Given the description of an element on the screen output the (x, y) to click on. 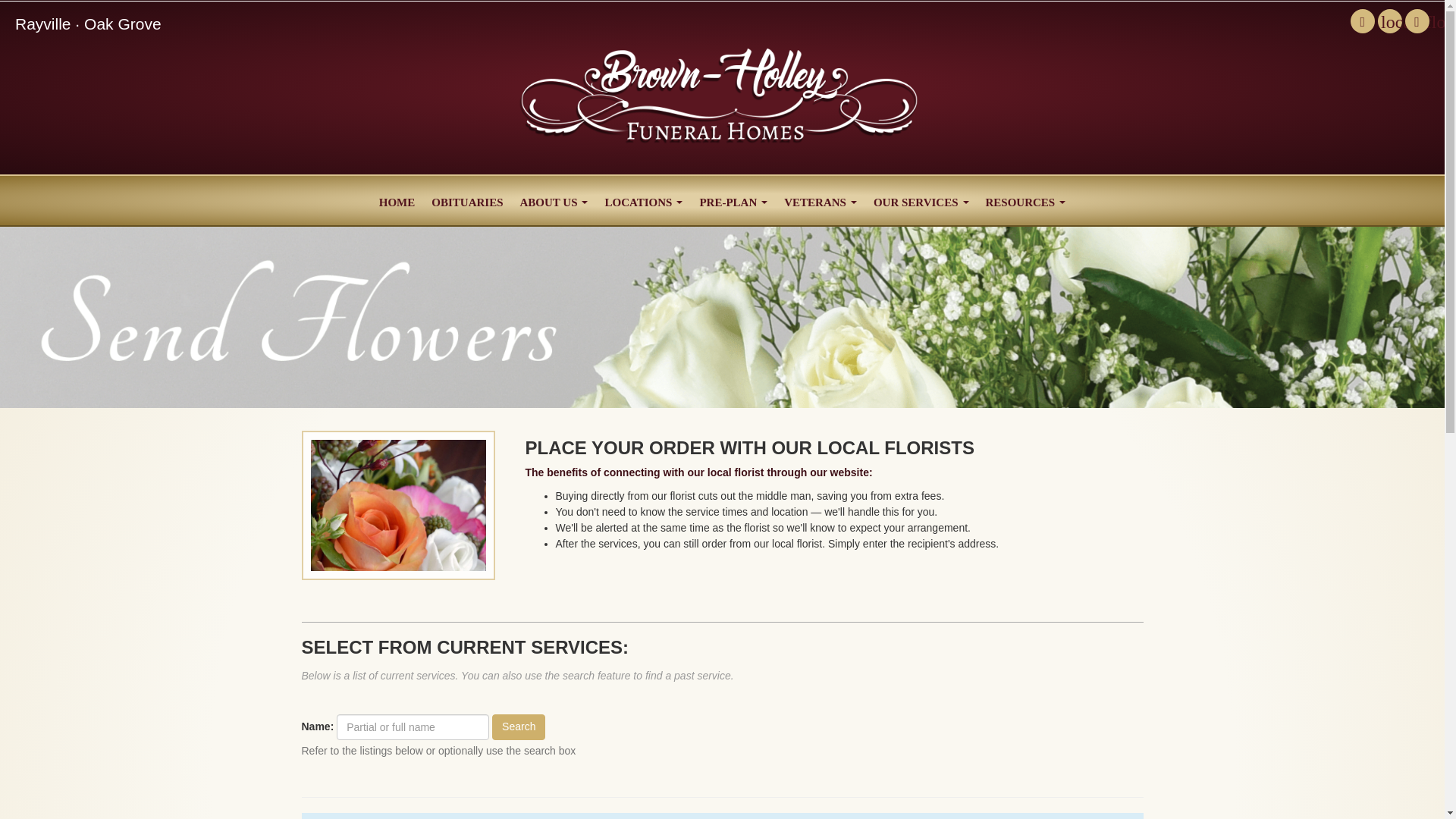
ABOUT US... (553, 200)
LOCATIONS... (642, 200)
OUR SERVICES... (920, 200)
HOME (397, 200)
OBITUARIES (467, 200)
Send Flowers (1389, 21)
Rayville (42, 23)
PRE-PLAN... (733, 200)
VETERANS... (820, 200)
Oak Grove (122, 23)
Directions (1417, 21)
RESOURCES... (1025, 200)
Search (518, 727)
Facebook (1362, 21)
